Given the description of an element on the screen output the (x, y) to click on. 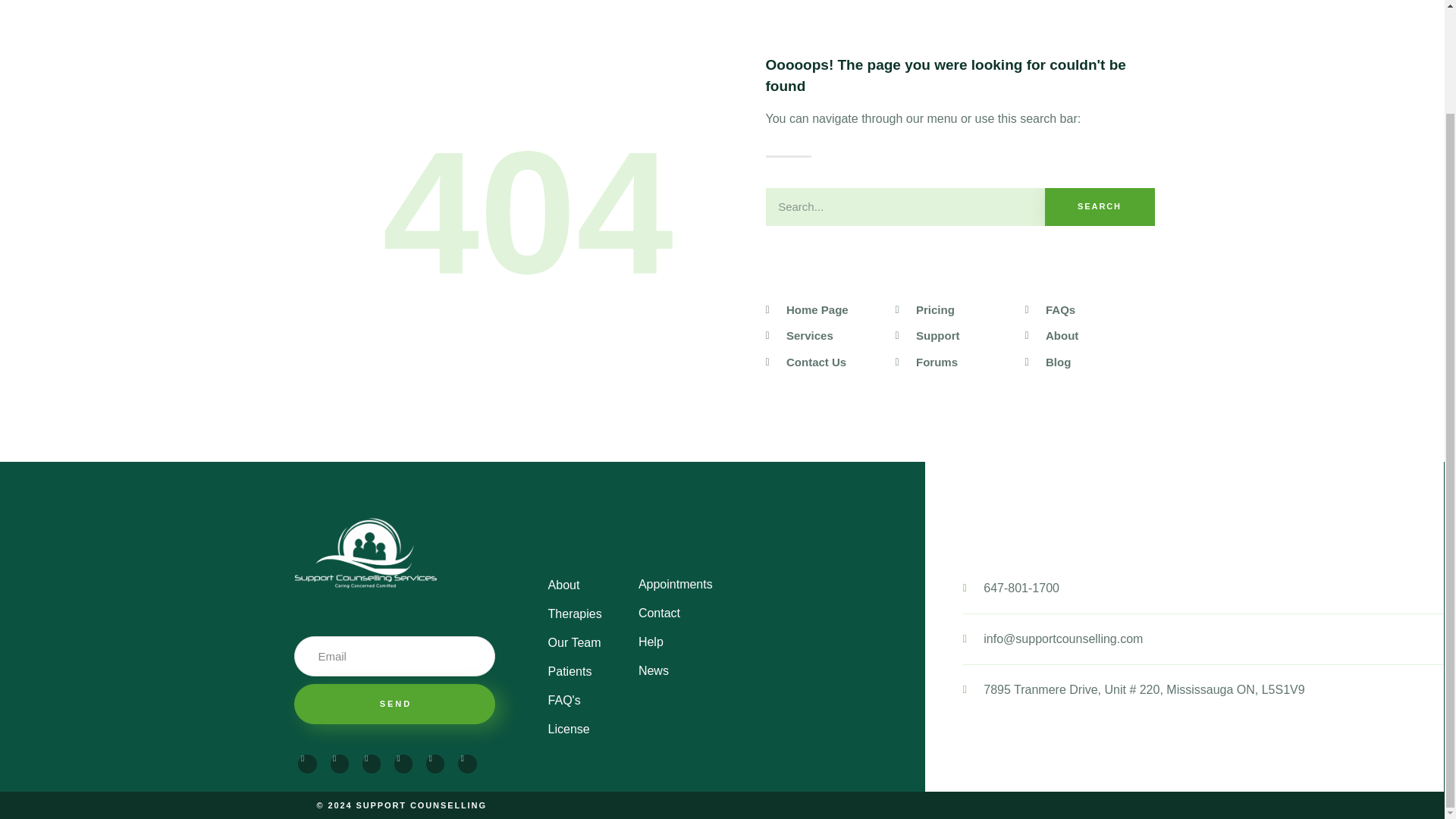
Search (905, 207)
SEARCH (1099, 207)
Search (1099, 207)
SEND (394, 703)
